Given the description of an element on the screen output the (x, y) to click on. 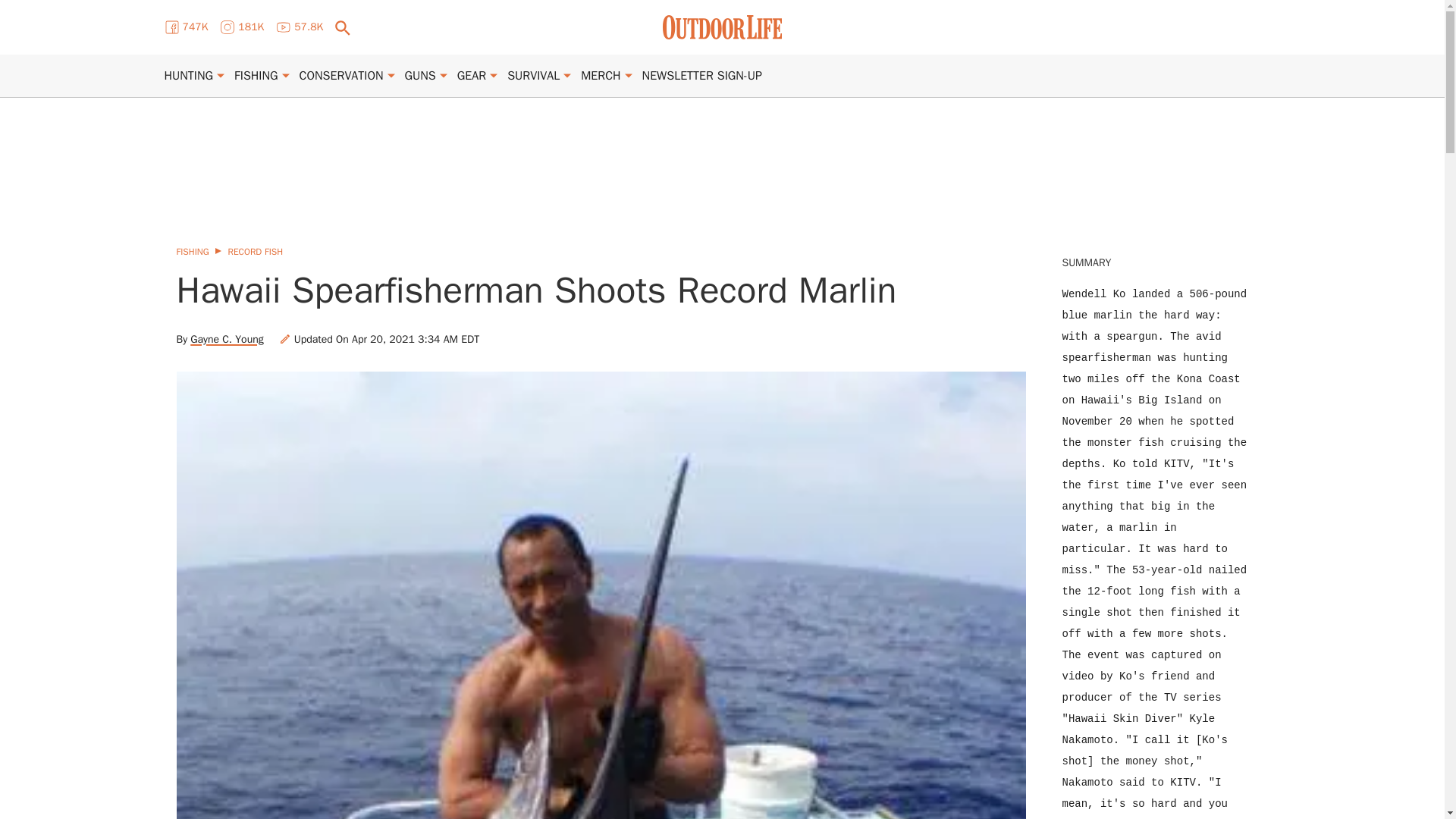
Newsletter Sign-up (701, 75)
Gear (471, 75)
Merch (600, 75)
Conservation (341, 75)
Guns (419, 75)
Hunting (187, 75)
Survival (532, 75)
Fishing (256, 75)
